Given the description of an element on the screen output the (x, y) to click on. 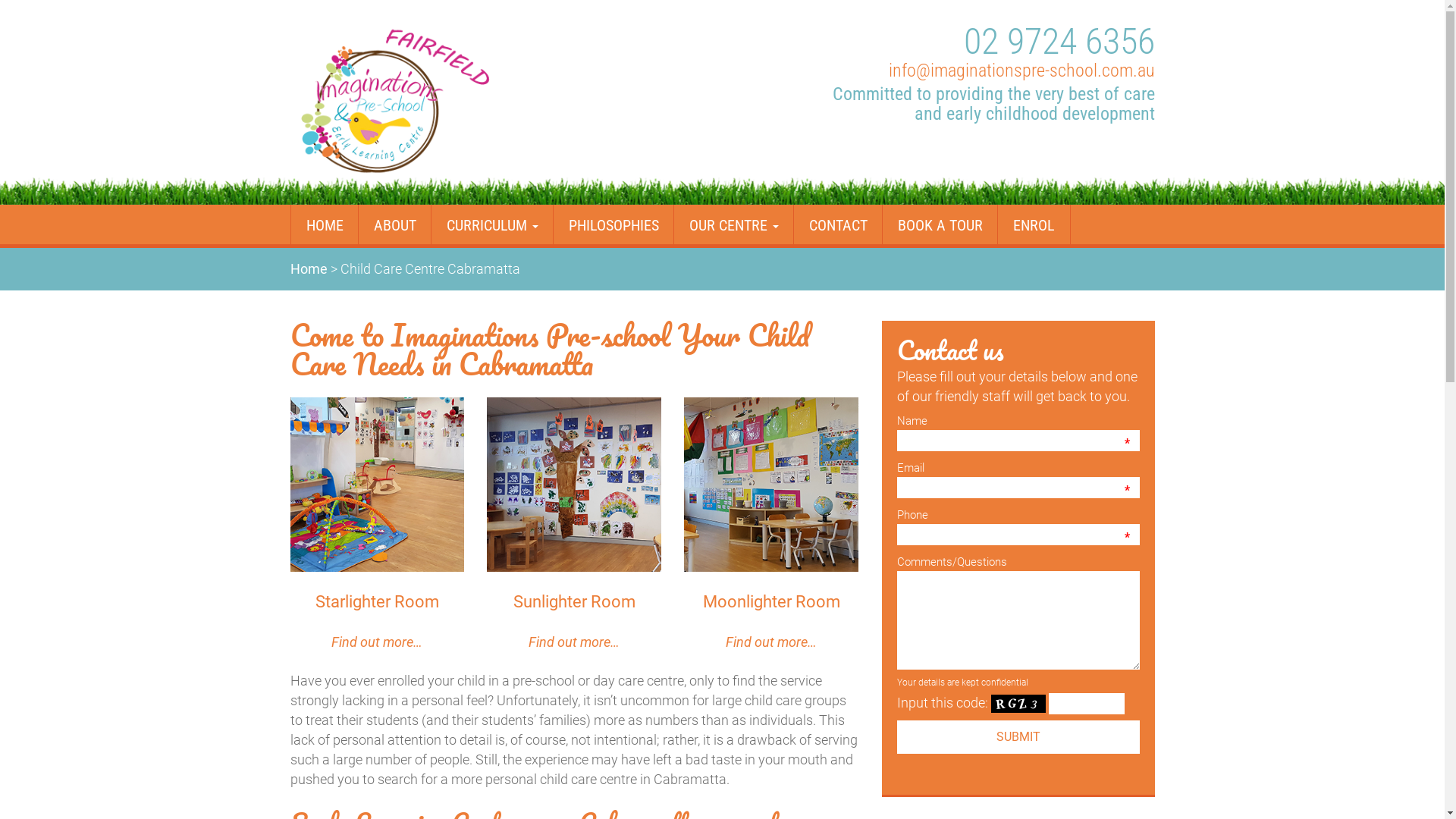
ENROL Element type: text (1033, 224)
Submit Element type: text (1017, 736)
PHILOSOPHIES Element type: text (612, 224)
CONTACT Element type: text (837, 224)
CURRICULUM Element type: text (491, 224)
info@imaginationspre-school.com.au Element type: text (1021, 70)
OUR CENTRE Element type: text (733, 224)
Home Element type: text (307, 268)
02 9724 6356 Element type: text (1058, 40)
ABOUT Element type: text (394, 224)
BOOK A TOUR Element type: text (939, 224)
HOME Element type: text (323, 224)
